Given the description of an element on the screen output the (x, y) to click on. 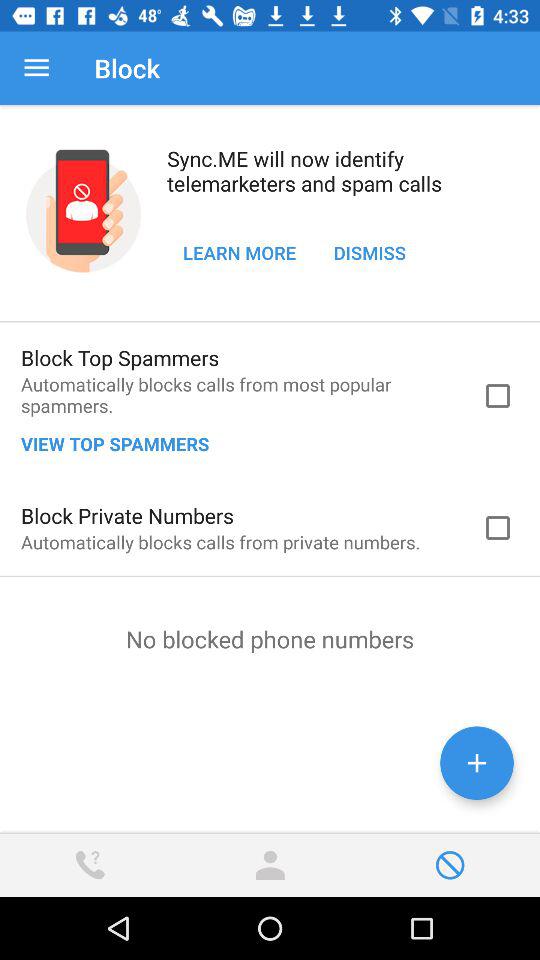
press icon next to dismiss (239, 252)
